Given the description of an element on the screen output the (x, y) to click on. 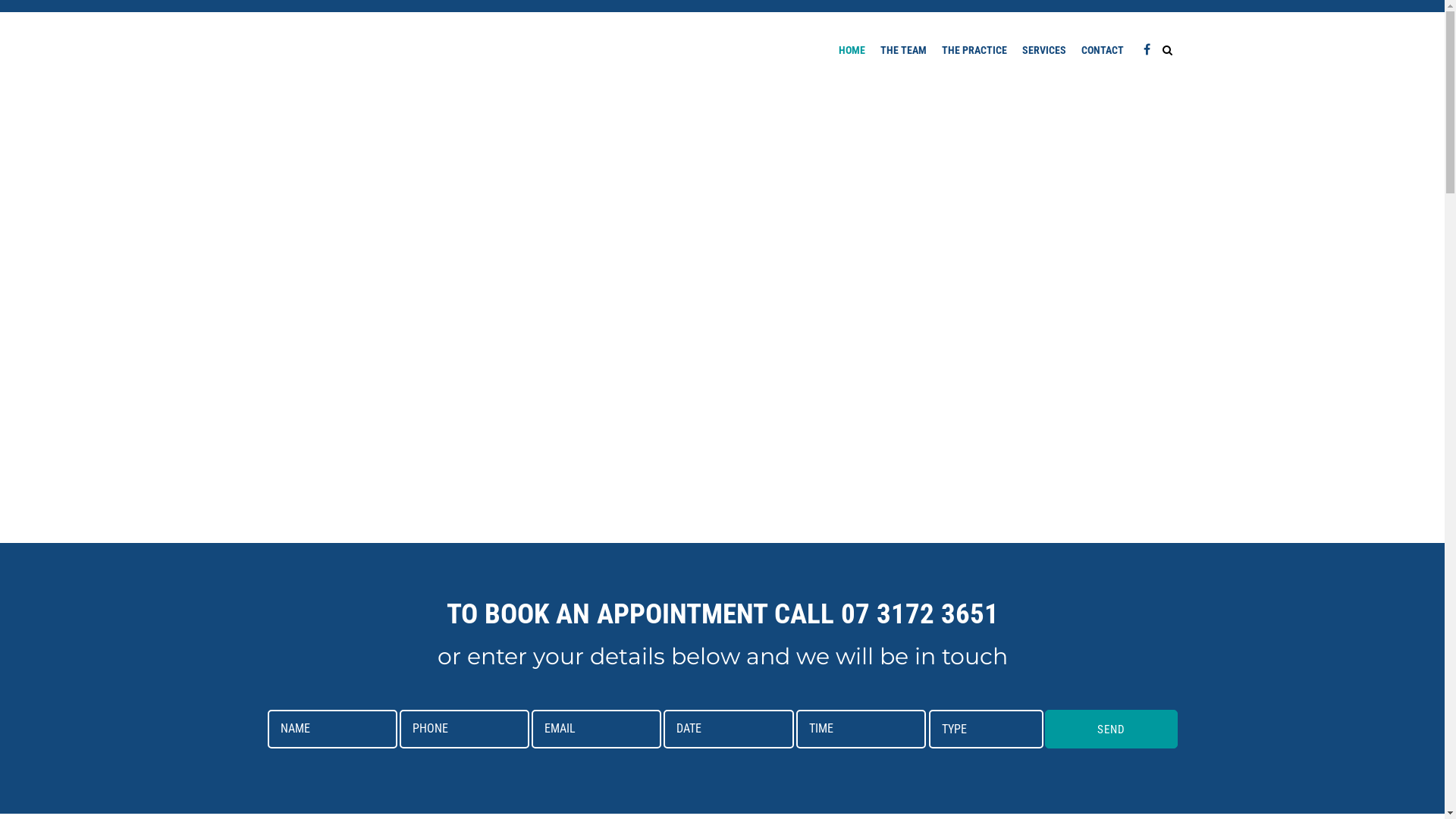
THE TEAM Element type: text (902, 49)
THE PRACTICE Element type: text (974, 49)
SERVICES Element type: text (1043, 49)
CONTACT Element type: text (1102, 49)
Send Element type: text (1110, 728)
HOME Element type: text (851, 49)
